Given the description of an element on the screen output the (x, y) to click on. 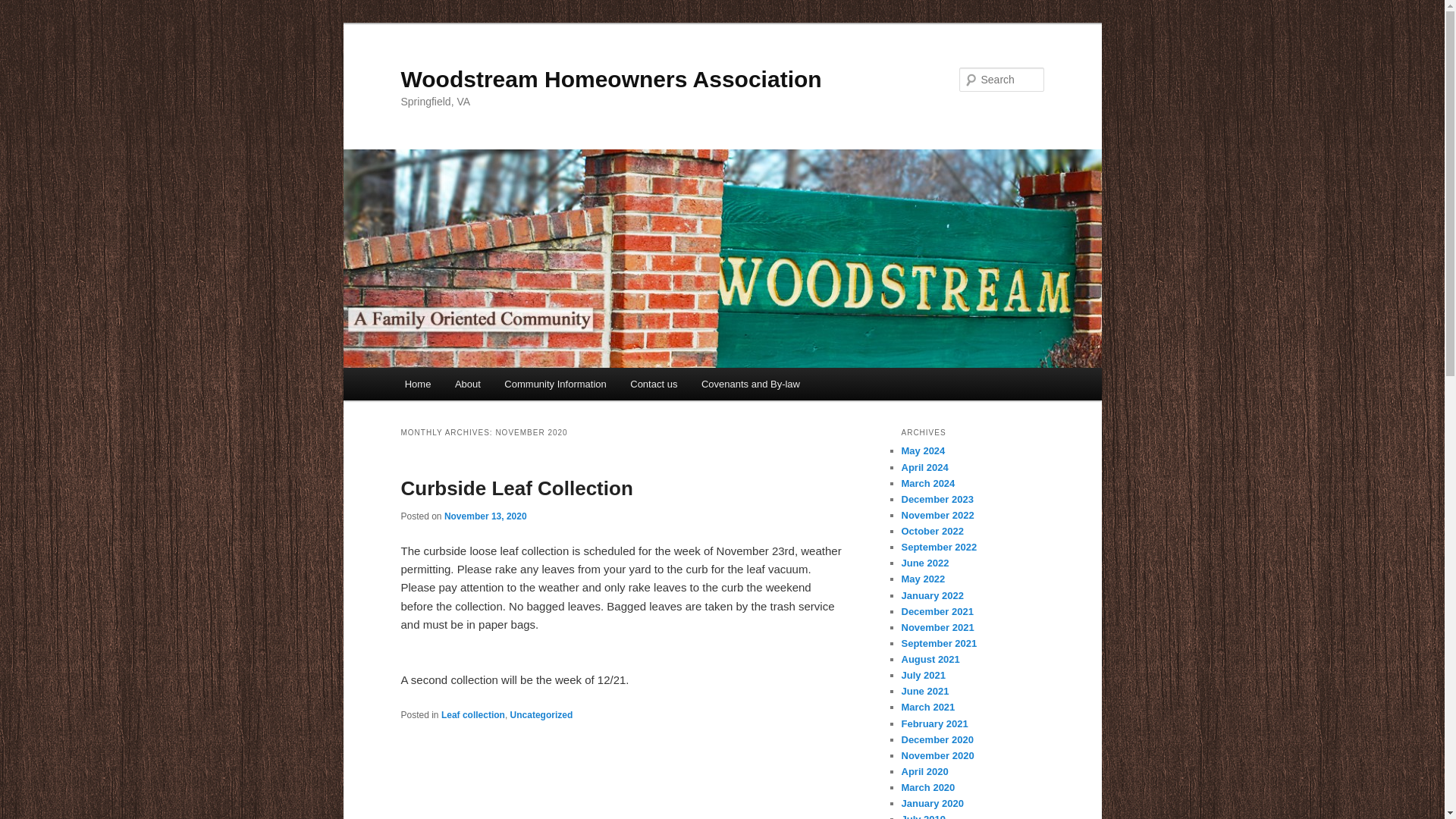
November 2022 (937, 514)
Search (24, 8)
September 2021 (938, 643)
November 13, 2020 (485, 516)
December 2023 (936, 499)
March 2024 (928, 482)
September 2022 (938, 546)
Uncategorized (542, 715)
January 2022 (931, 595)
Woodstream Homeowners Association (610, 78)
April 2024 (924, 467)
July 2021 (922, 674)
Leaf collection (473, 715)
May 2022 (922, 578)
October 2022 (931, 531)
